Given the description of an element on the screen output the (x, y) to click on. 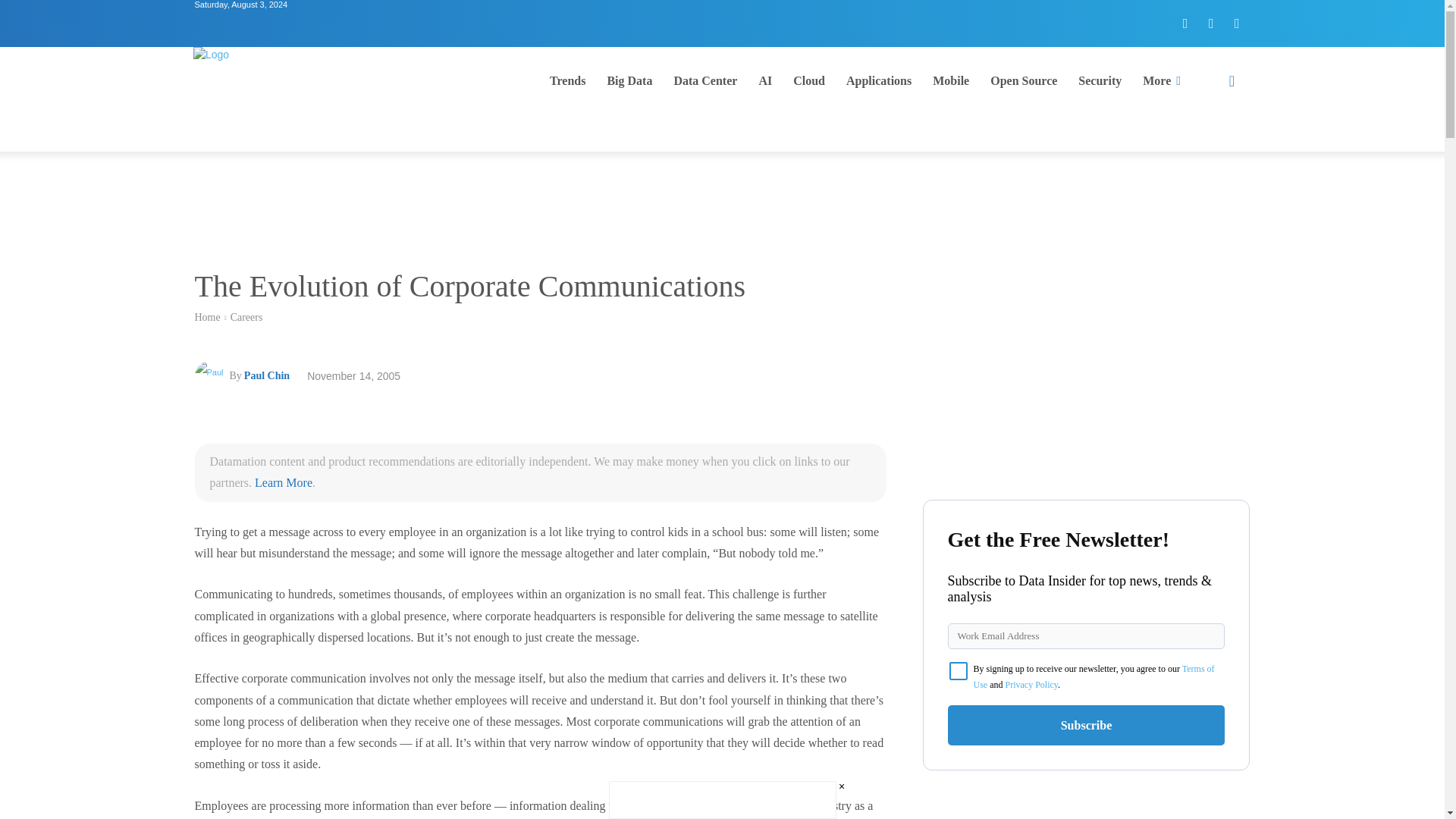
Careers (246, 317)
Data Center (705, 81)
Big Data (628, 81)
Applications (878, 81)
Twitter (1211, 23)
on (958, 670)
Paul Chin (210, 376)
Youtube (1236, 23)
Security (1099, 81)
View all posts in Careers (246, 317)
Facebook (1185, 23)
Trends (566, 81)
Cloud (809, 81)
Open Source (1023, 81)
Learn More (283, 481)
